Given the description of an element on the screen output the (x, y) to click on. 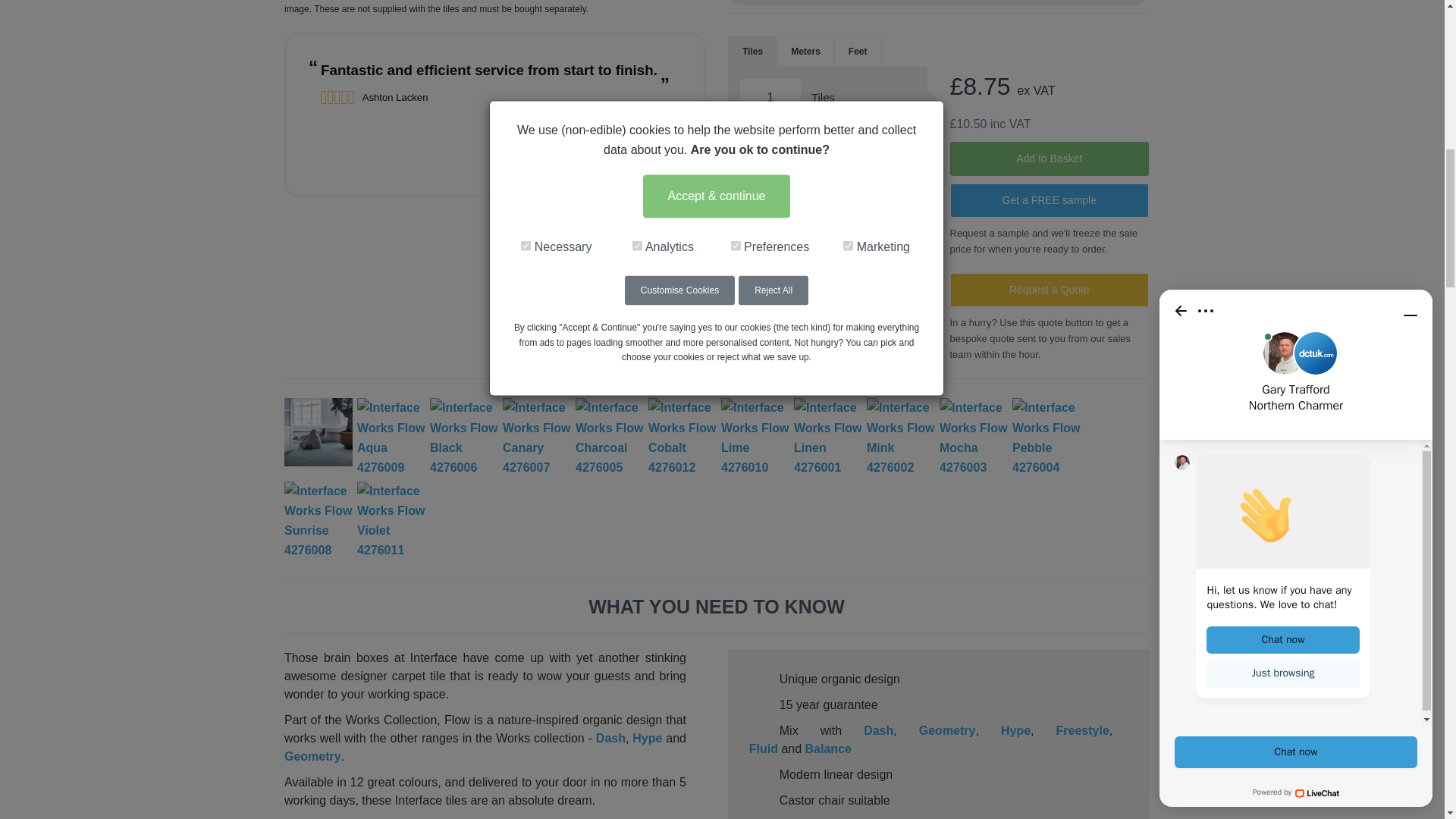
Get a FREE sample (1048, 200)
1 (769, 97)
Add to Basket (1048, 158)
